Given the description of an element on the screen output the (x, y) to click on. 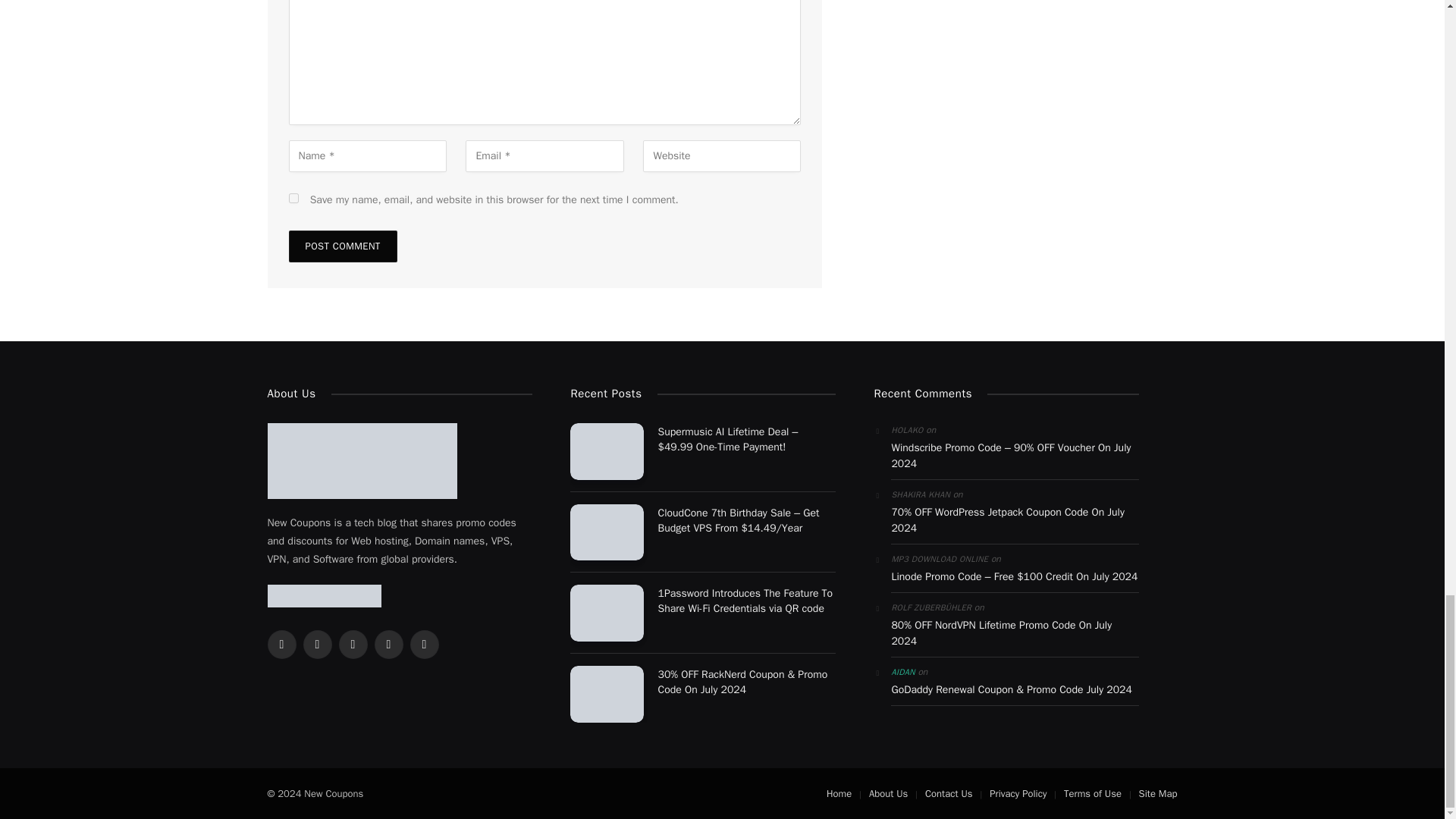
Post Comment (342, 246)
yes (293, 198)
